Given the description of an element on the screen output the (x, y) to click on. 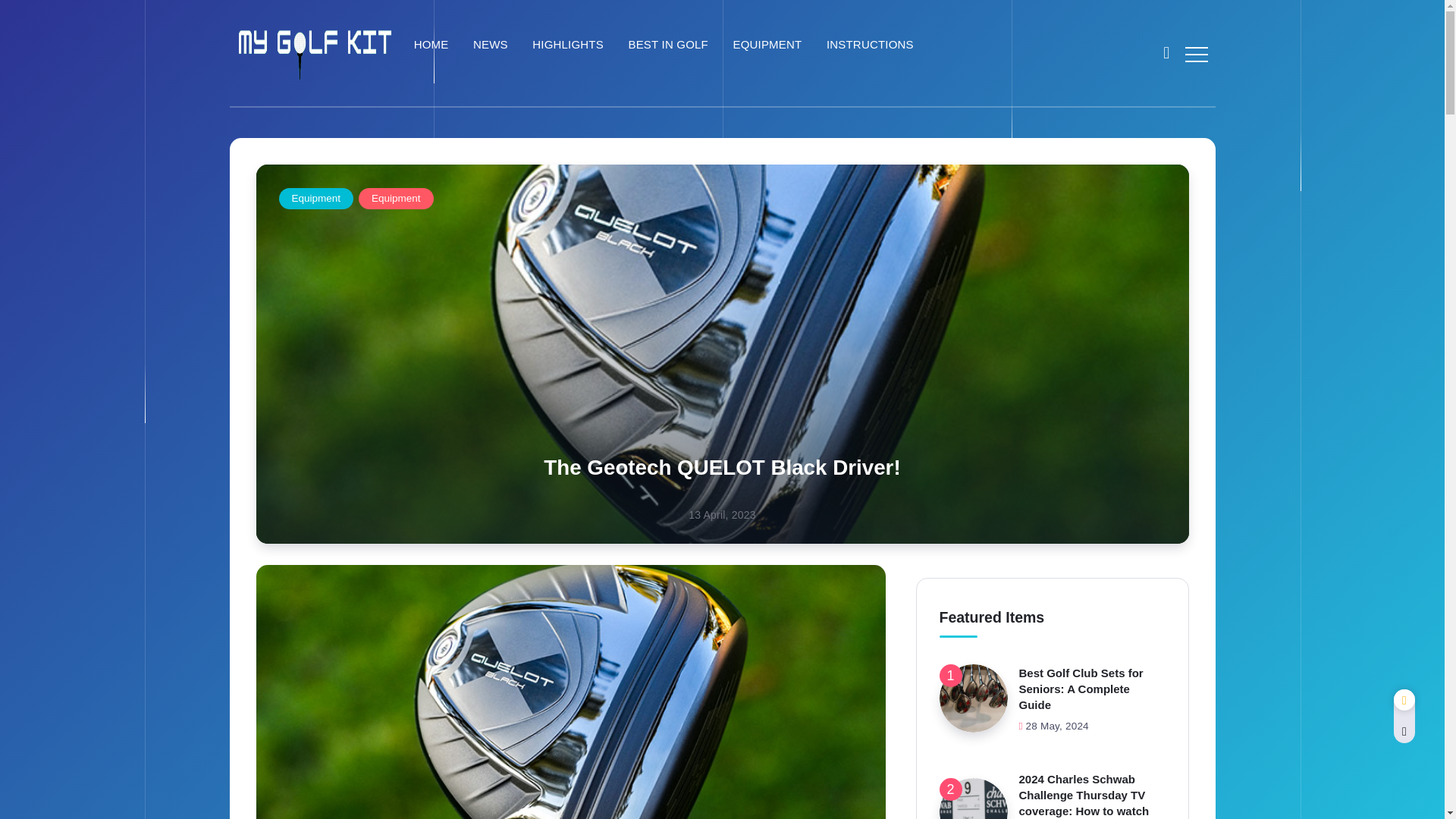
EQUIPMENT (769, 44)
My Golf kit (314, 51)
HIGHLIGHTS (570, 44)
Equipment (395, 198)
BEST IN GOLF (671, 44)
Equipment (395, 198)
NEWS (492, 44)
INSTRUCTIONS (872, 44)
 Best Golf Club Sets for Seniors: A Complete Guide (1080, 688)
Equipment (316, 198)
HOME (433, 44)
Best Golf Club Sets for Seniors: A Complete Guide (973, 698)
